Given the description of an element on the screen output the (x, y) to click on. 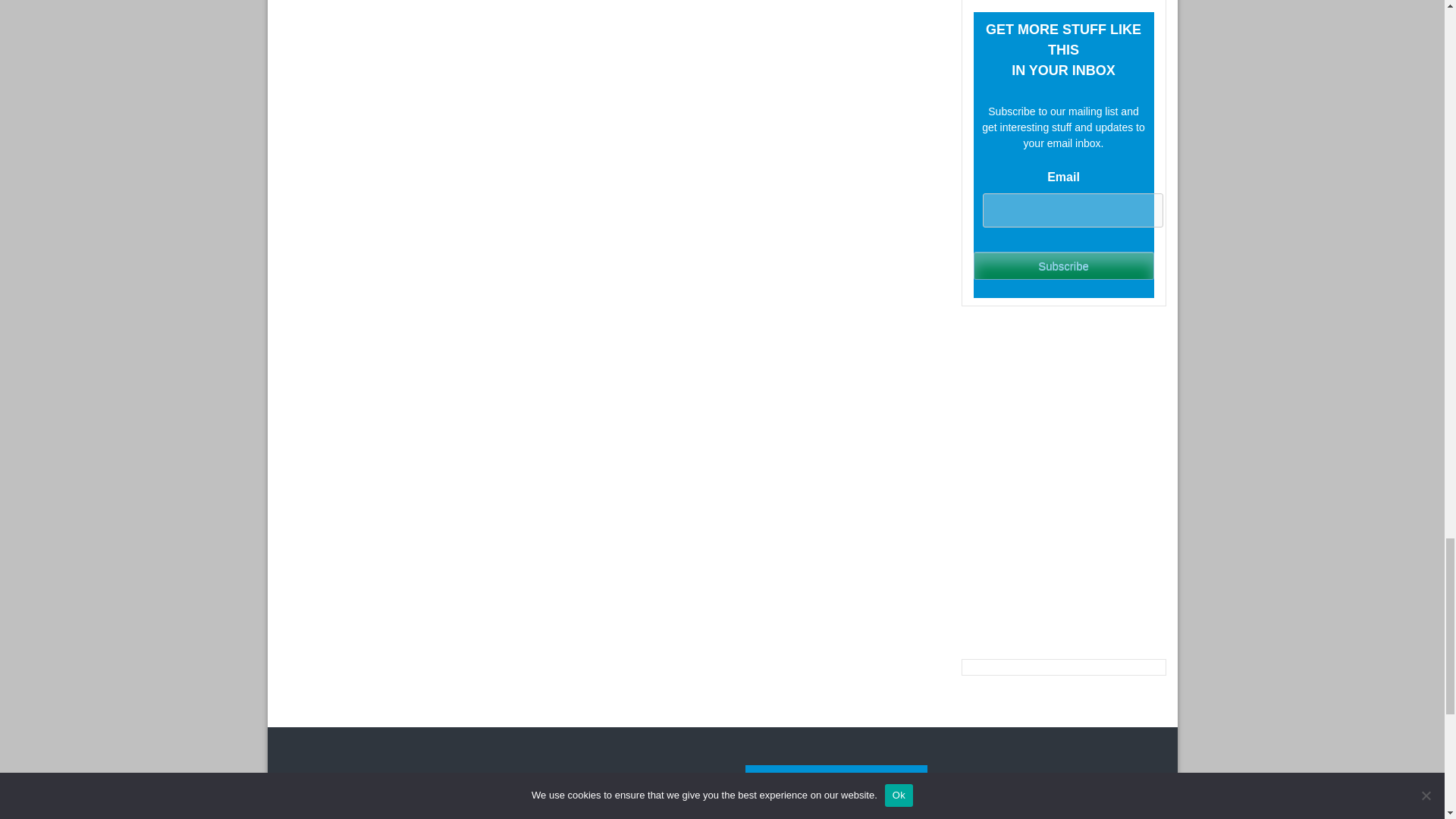
Subscribe (1064, 265)
